Given the description of an element on the screen output the (x, y) to click on. 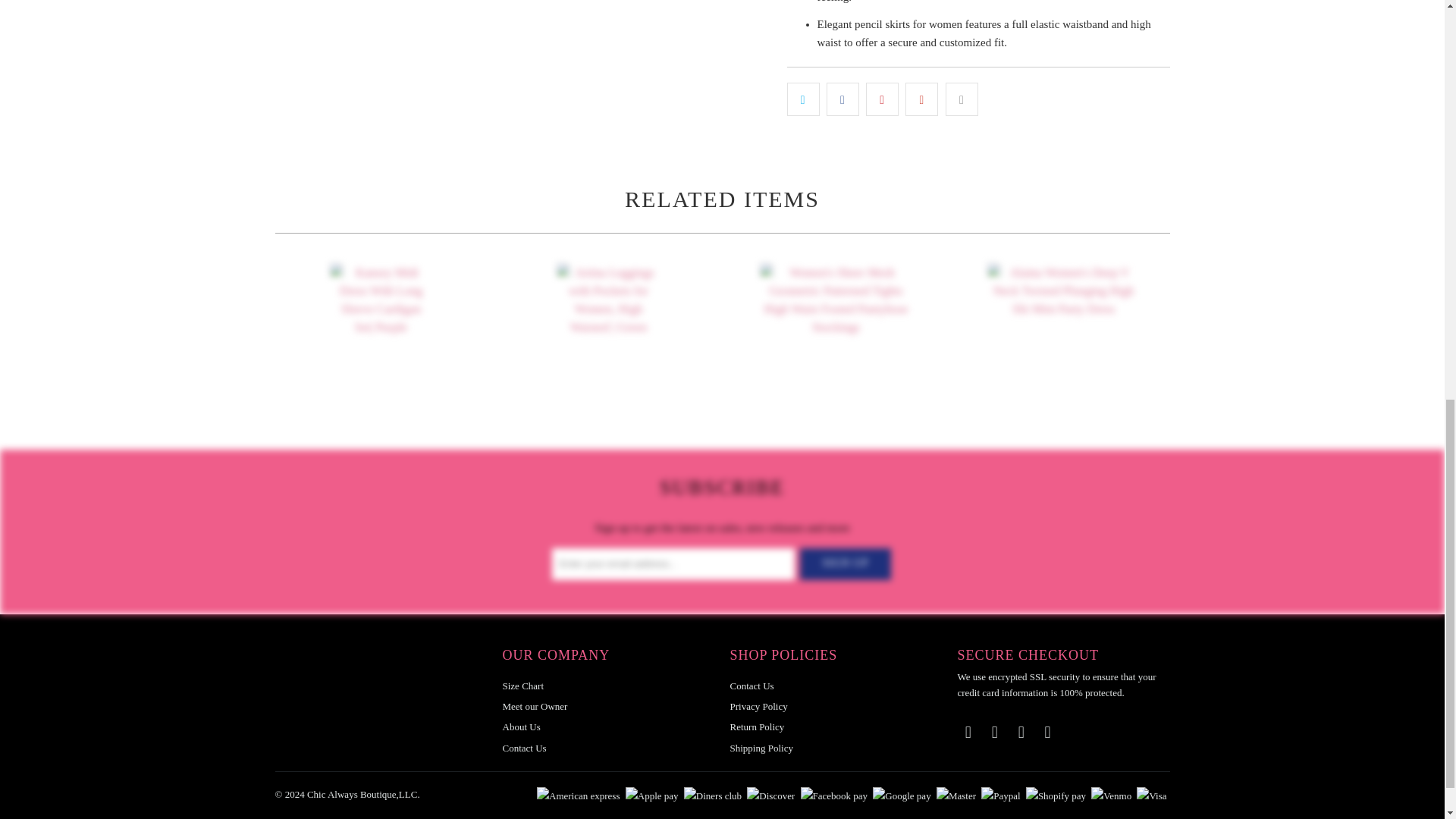
Sign Up (845, 563)
Share this on Facebook (843, 99)
Share this on Pinterest (882, 99)
Chic Always Boutique,LLC on Facebook (967, 732)
Email this to a friend (961, 99)
Share this on Twitter (803, 99)
